Given the description of an element on the screen output the (x, y) to click on. 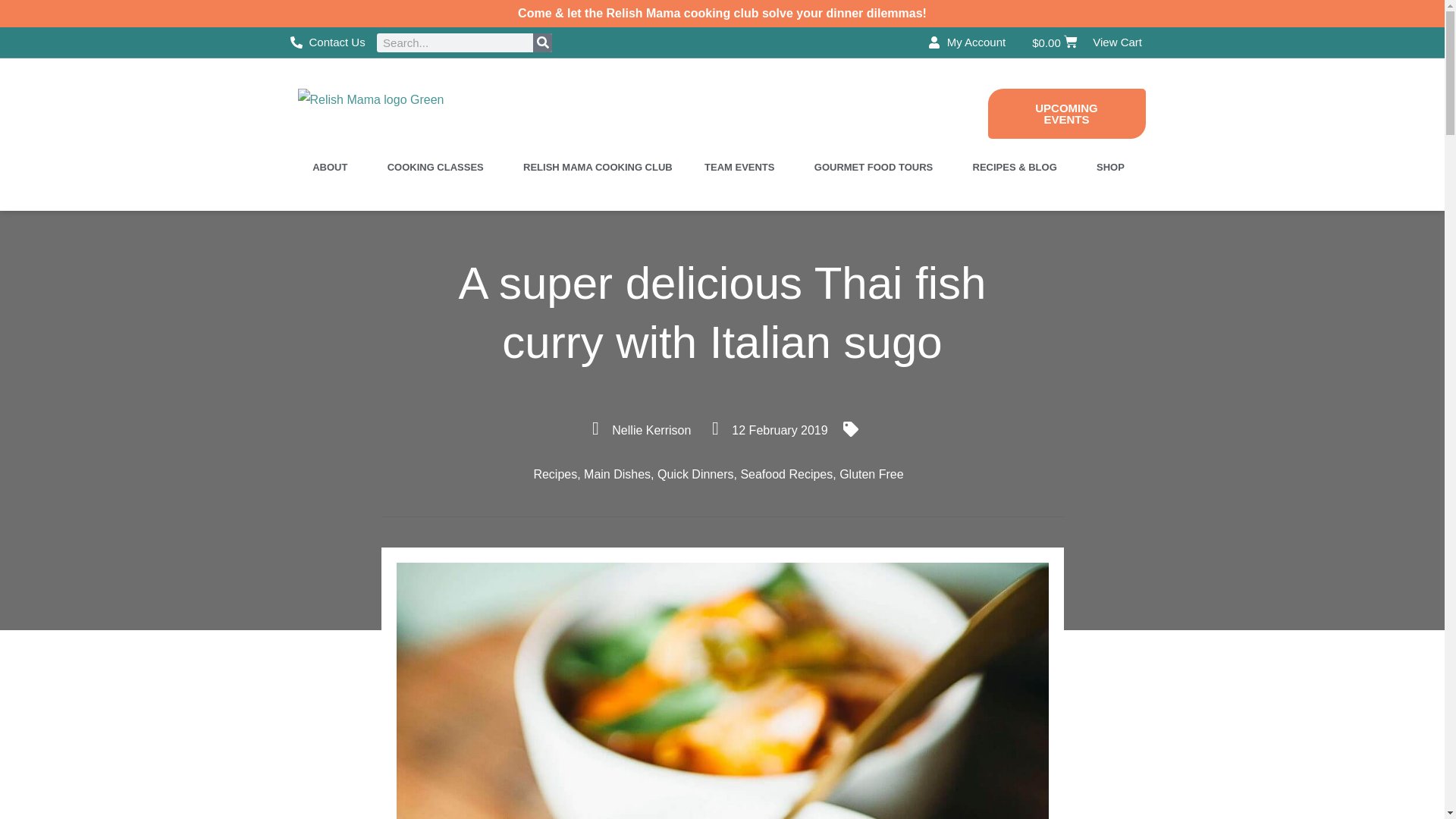
My Account (967, 42)
GOURMET FOOD TOURS (877, 166)
View Cart (1117, 42)
TEAM EVENTS (742, 166)
UPCOMING EVENTS (1065, 113)
ABOUT (333, 166)
COOKING CLASSES (438, 166)
Search (541, 42)
RELISH MAMA COOKING CLUB (597, 166)
Contact Us (327, 42)
